Given the description of an element on the screen output the (x, y) to click on. 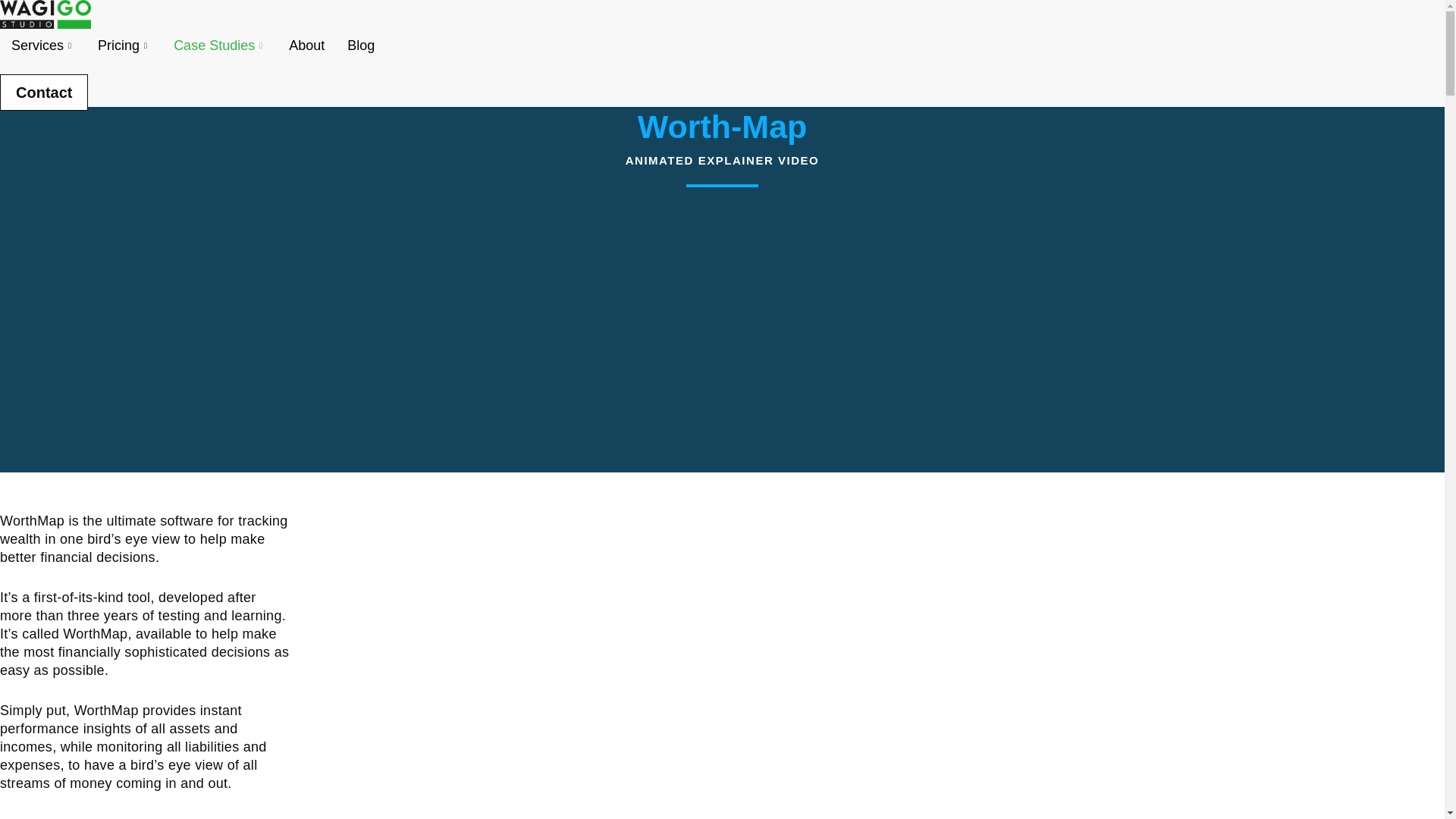
Blog (360, 45)
Case Studies (219, 45)
About (307, 45)
Services (42, 45)
Pricing (123, 45)
Contact (43, 92)
